Given the description of an element on the screen output the (x, y) to click on. 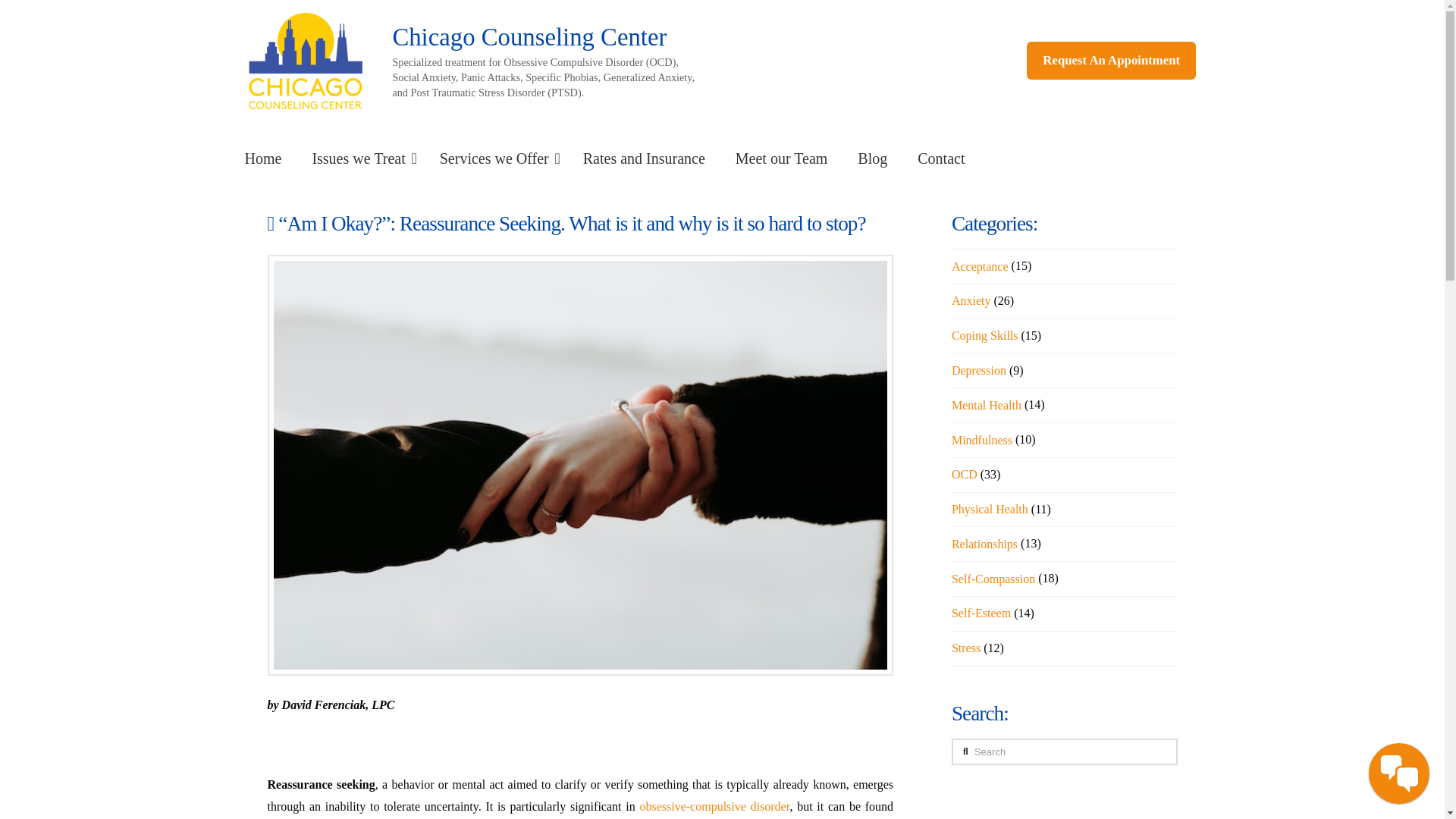
Home (262, 158)
Contact (940, 158)
Issues we Treat (360, 158)
Blog (872, 158)
obsessive-compulsive disorder (714, 806)
Request An Appointment (1110, 60)
Acceptance (980, 266)
Rates and Insurance (643, 158)
Meet our Team (781, 158)
Anxiety (971, 300)
